Given the description of an element on the screen output the (x, y) to click on. 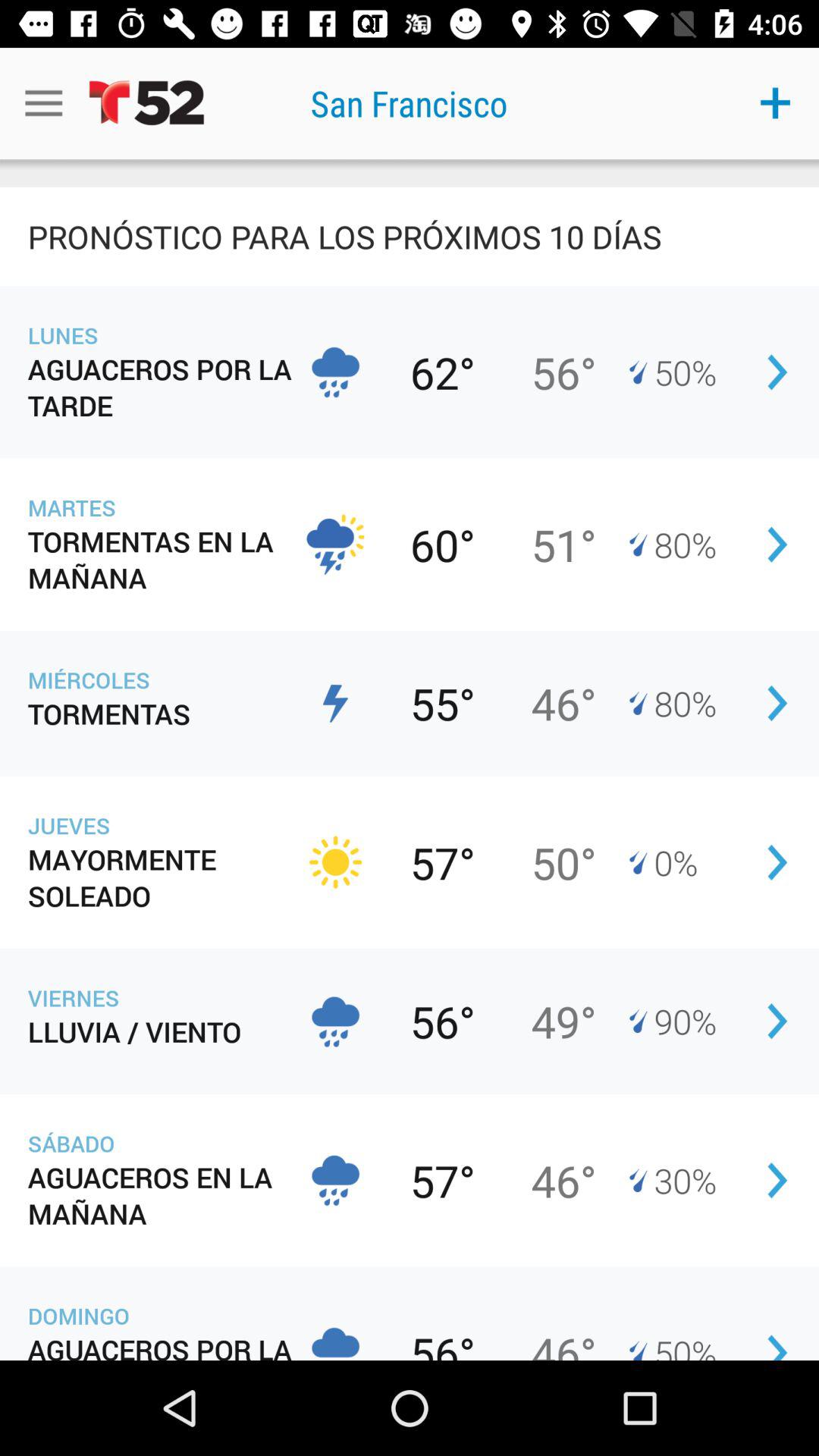
click the fifth button on the top right corner of the web page (777, 862)
select the logo on right next to the button on the top left corner of the web page (146, 103)
click on the sun logo (335, 861)
